Given the description of an element on the screen output the (x, y) to click on. 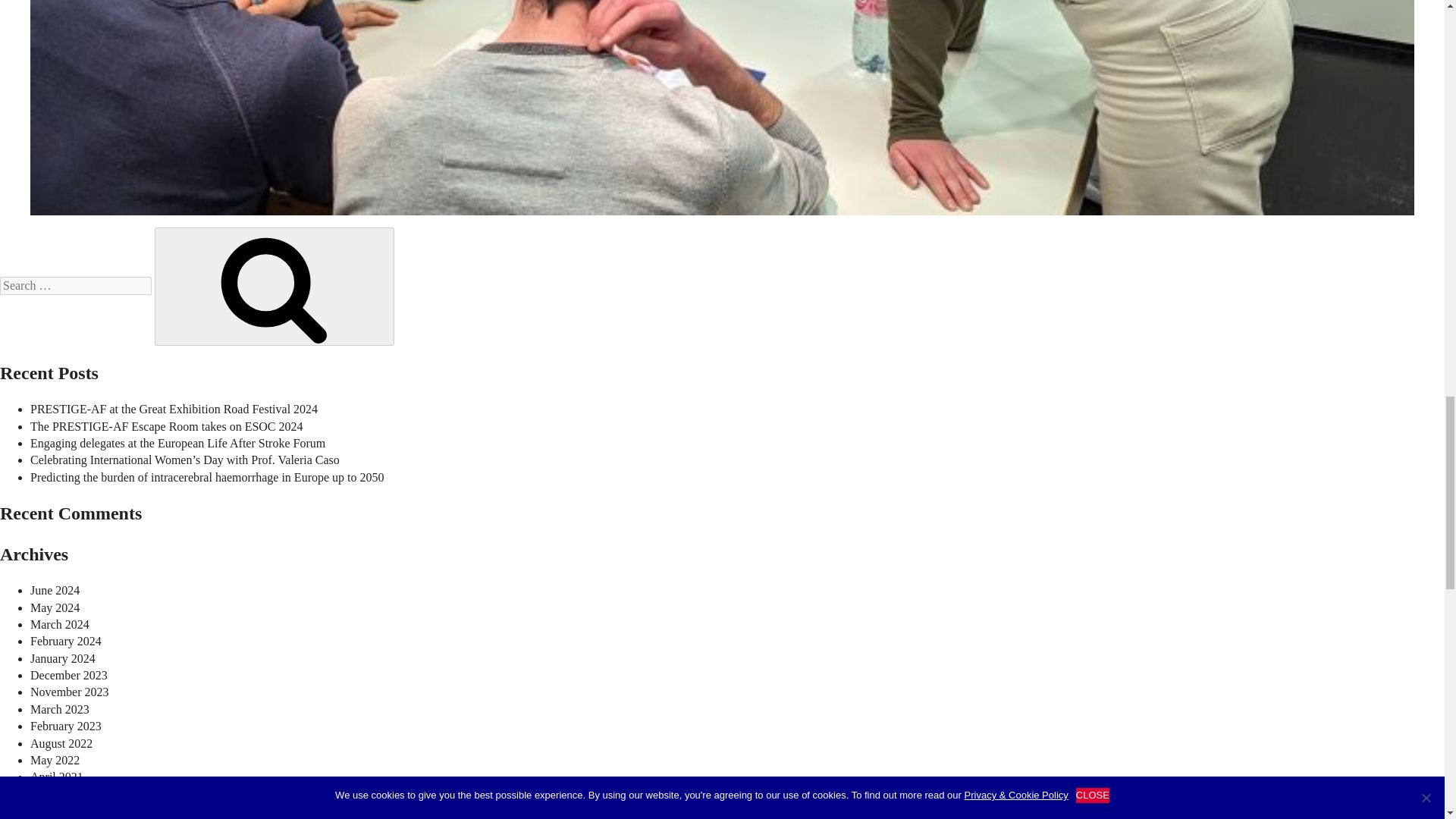
May 2024 (55, 607)
August 2022 (61, 743)
February 2023 (65, 725)
June 2024 (55, 590)
February 2021 (65, 810)
April 2021 (56, 776)
May 2022 (55, 759)
Engaging delegates at the European Life After Stroke Forum (177, 442)
Search (274, 286)
PRESTIGE-AF at the Great Exhibition Road Festival 2024 (173, 408)
March 2021 (59, 793)
March 2024 (59, 624)
December 2023 (68, 675)
The PRESTIGE-AF Escape Room takes on ESOC 2024 (166, 426)
